Given the description of an element on the screen output the (x, y) to click on. 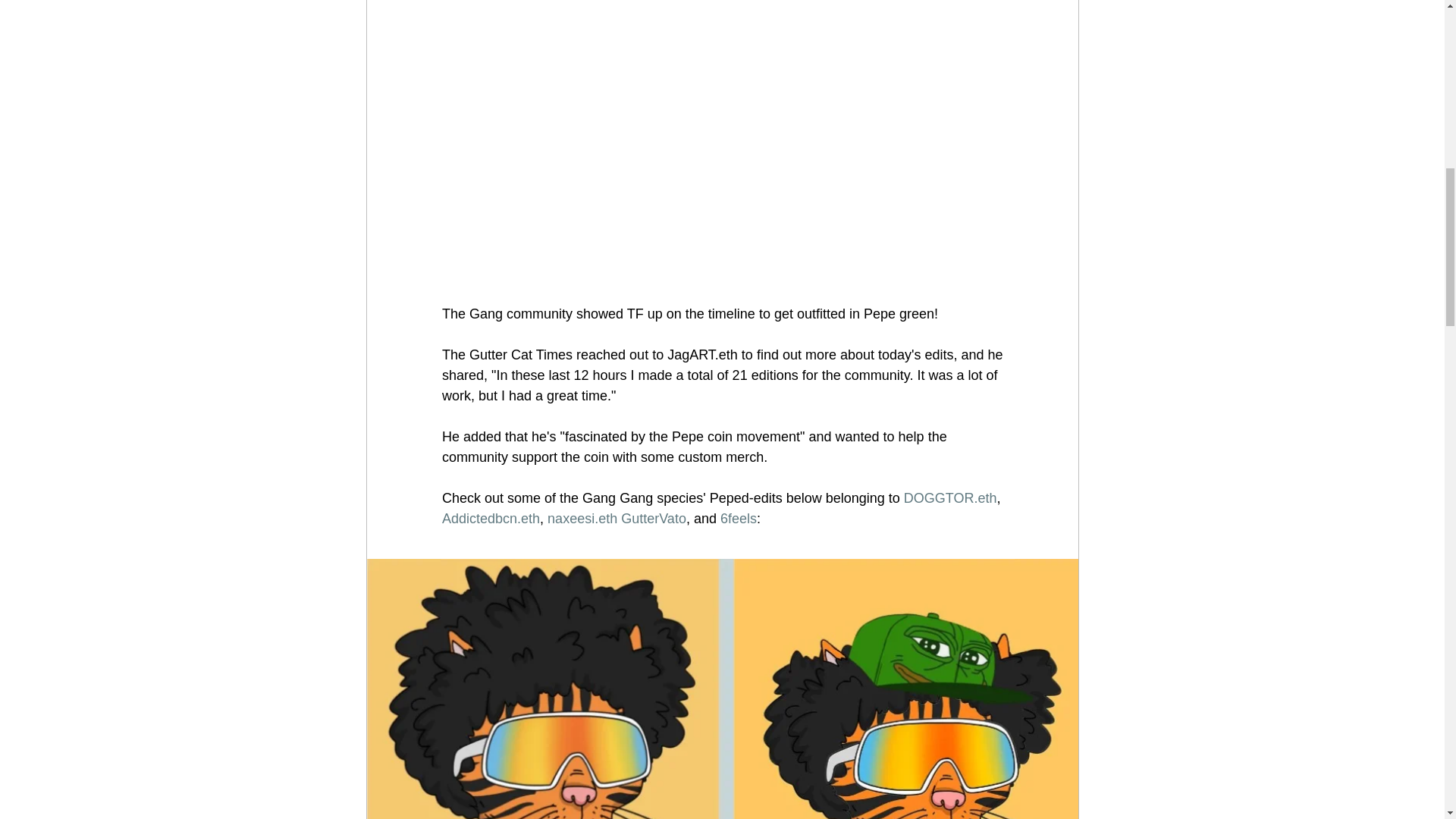
DOGGTOR.eth (948, 498)
6feels (737, 518)
Addictedbcn.eth (489, 518)
naxeesi.eth GutterVato (616, 518)
